Given the description of an element on the screen output the (x, y) to click on. 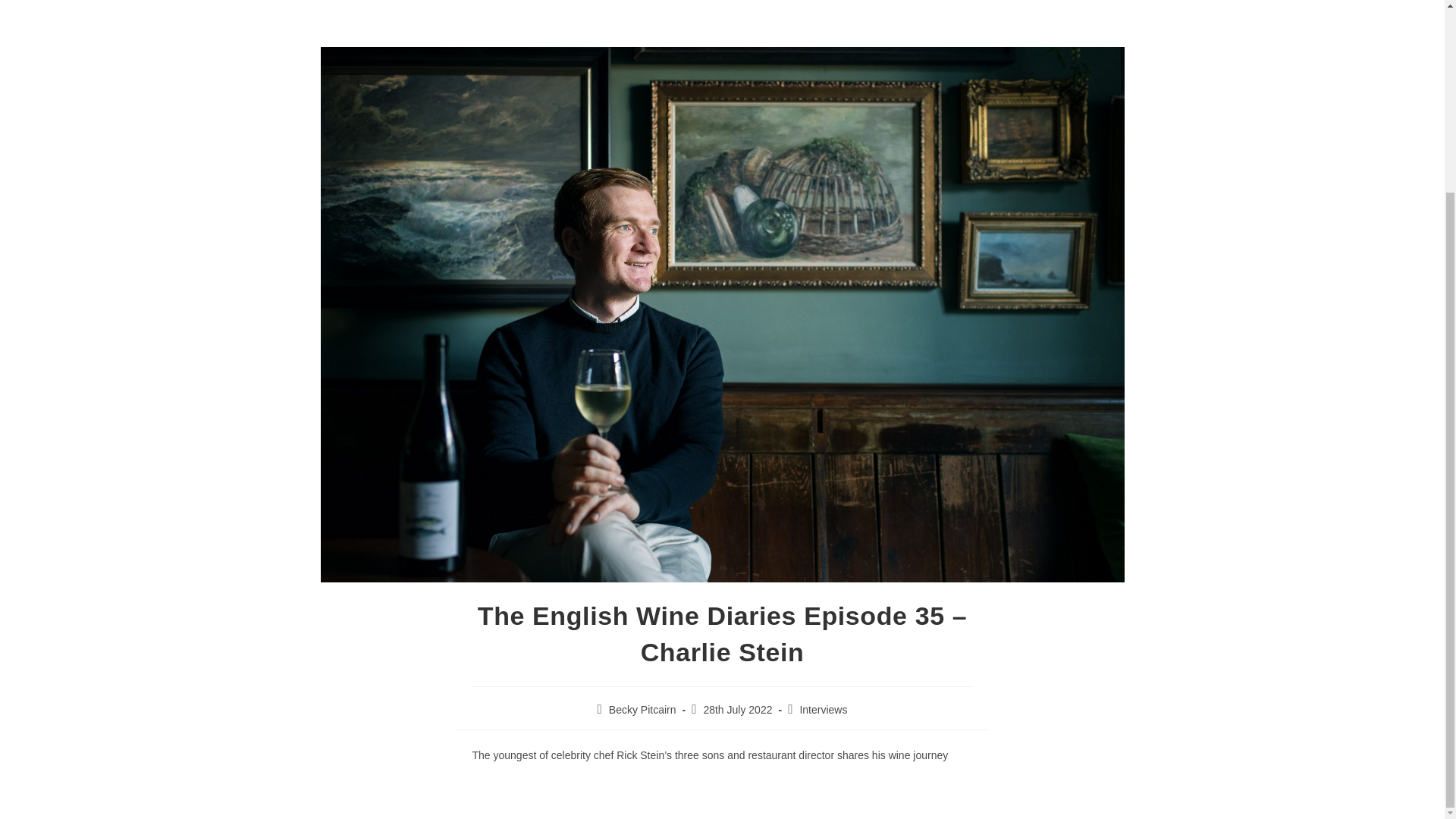
Interviews (823, 709)
Posts by Becky Pitcairn (642, 709)
Becky Pitcairn (642, 709)
